Given the description of an element on the screen output the (x, y) to click on. 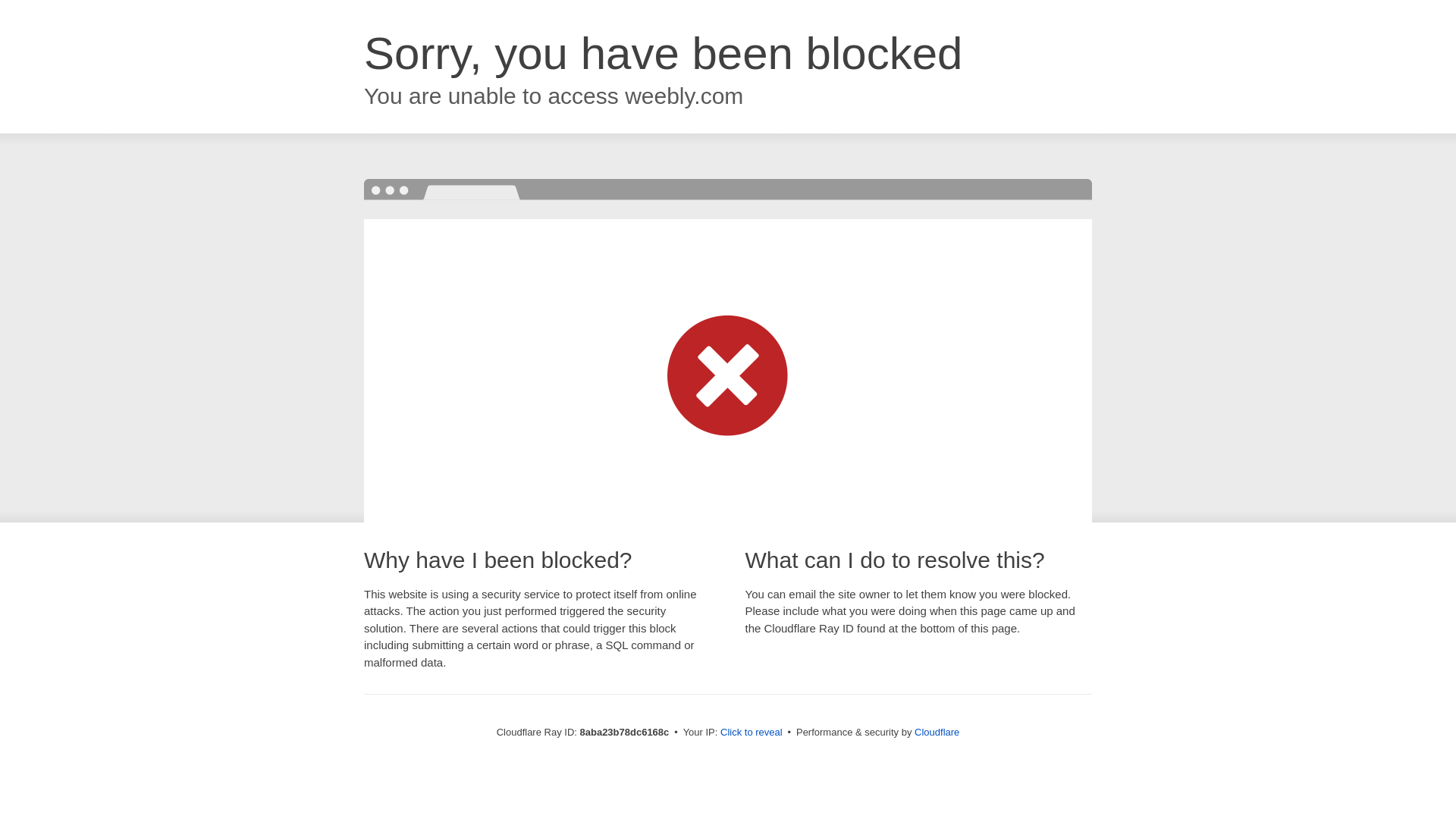
Cloudflare (936, 731)
Click to reveal (751, 732)
